Given the description of an element on the screen output the (x, y) to click on. 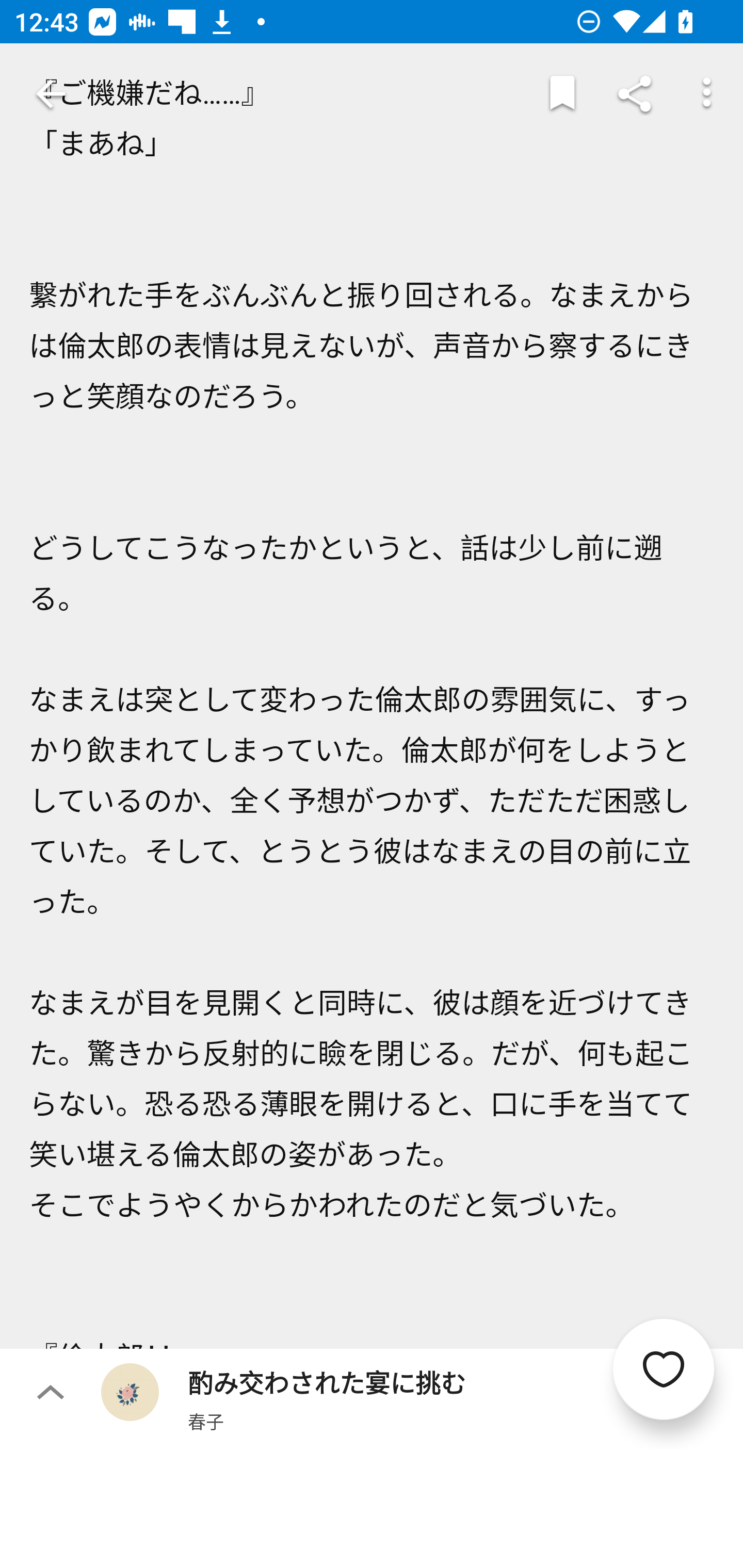
Navigate up (50, 93)
Markers (562, 93)
Share (634, 93)
More options (706, 93)
春子 (205, 1421)
